Given the description of an element on the screen output the (x, y) to click on. 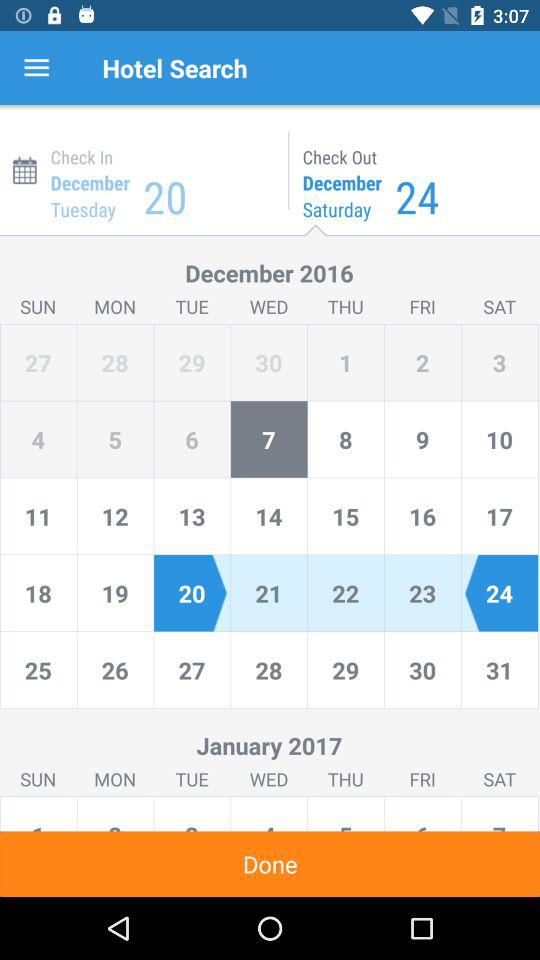
select the number which is left to the number 10 (422, 439)
move to the number 5 which is left to the number 4 (115, 439)
select the text 23 which is highlighted in light blue colour (422, 592)
select the number 15 (345, 516)
choose button next to 15 at right middle (422, 516)
